Given the description of an element on the screen output the (x, y) to click on. 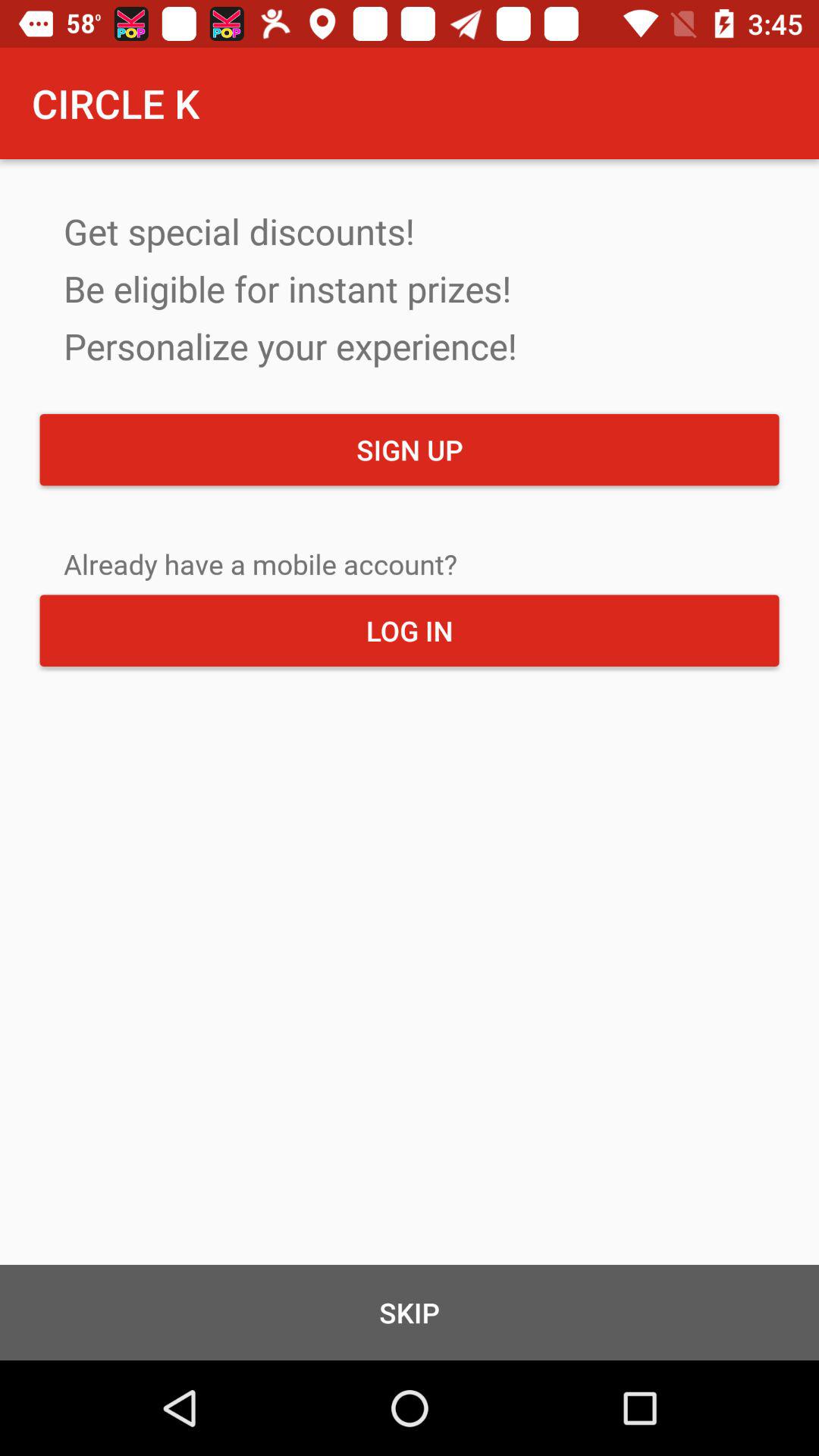
scroll to log in (409, 630)
